Given the description of an element on the screen output the (x, y) to click on. 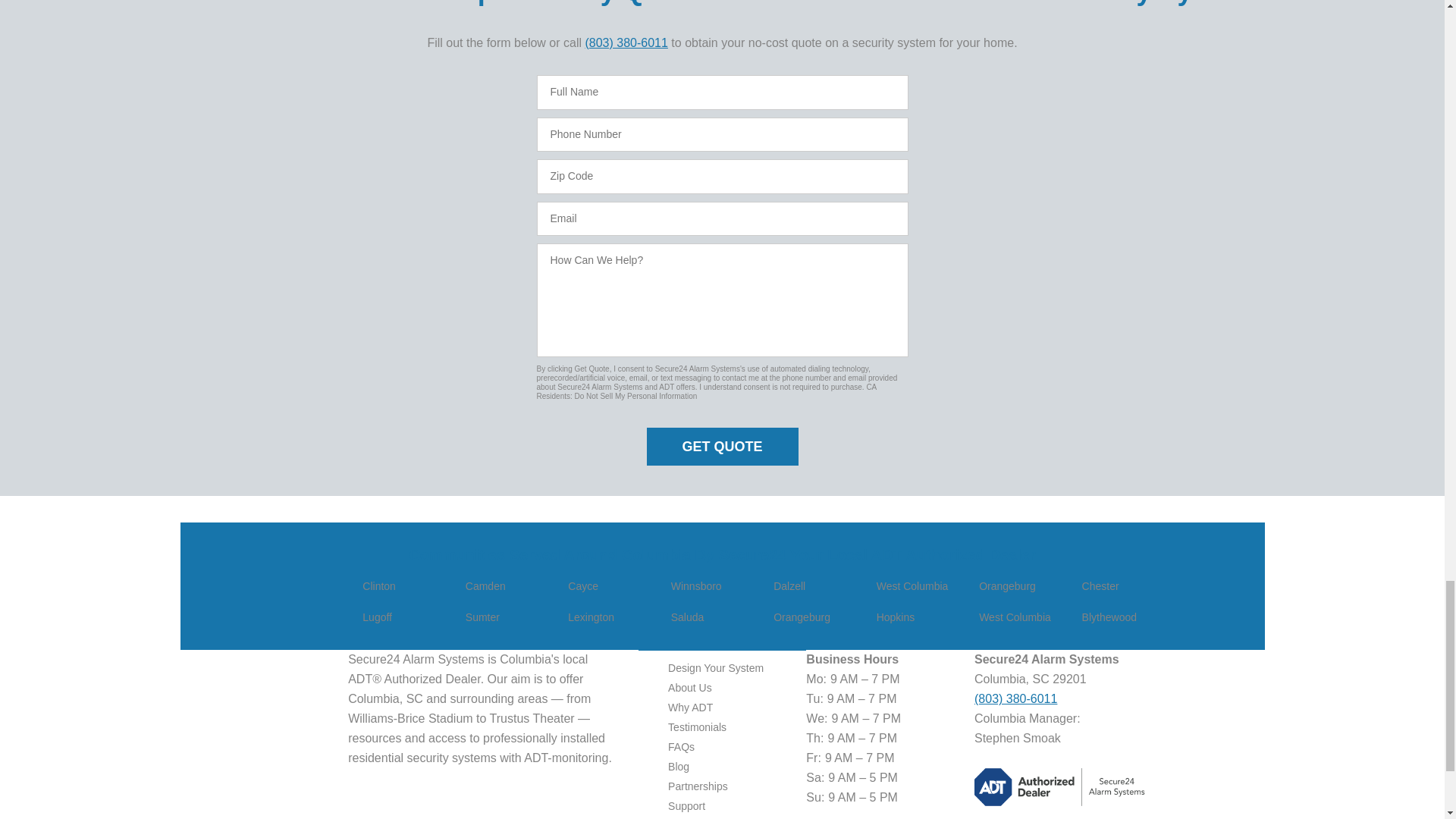
GET QUOTE (721, 446)
